Given the description of an element on the screen output the (x, y) to click on. 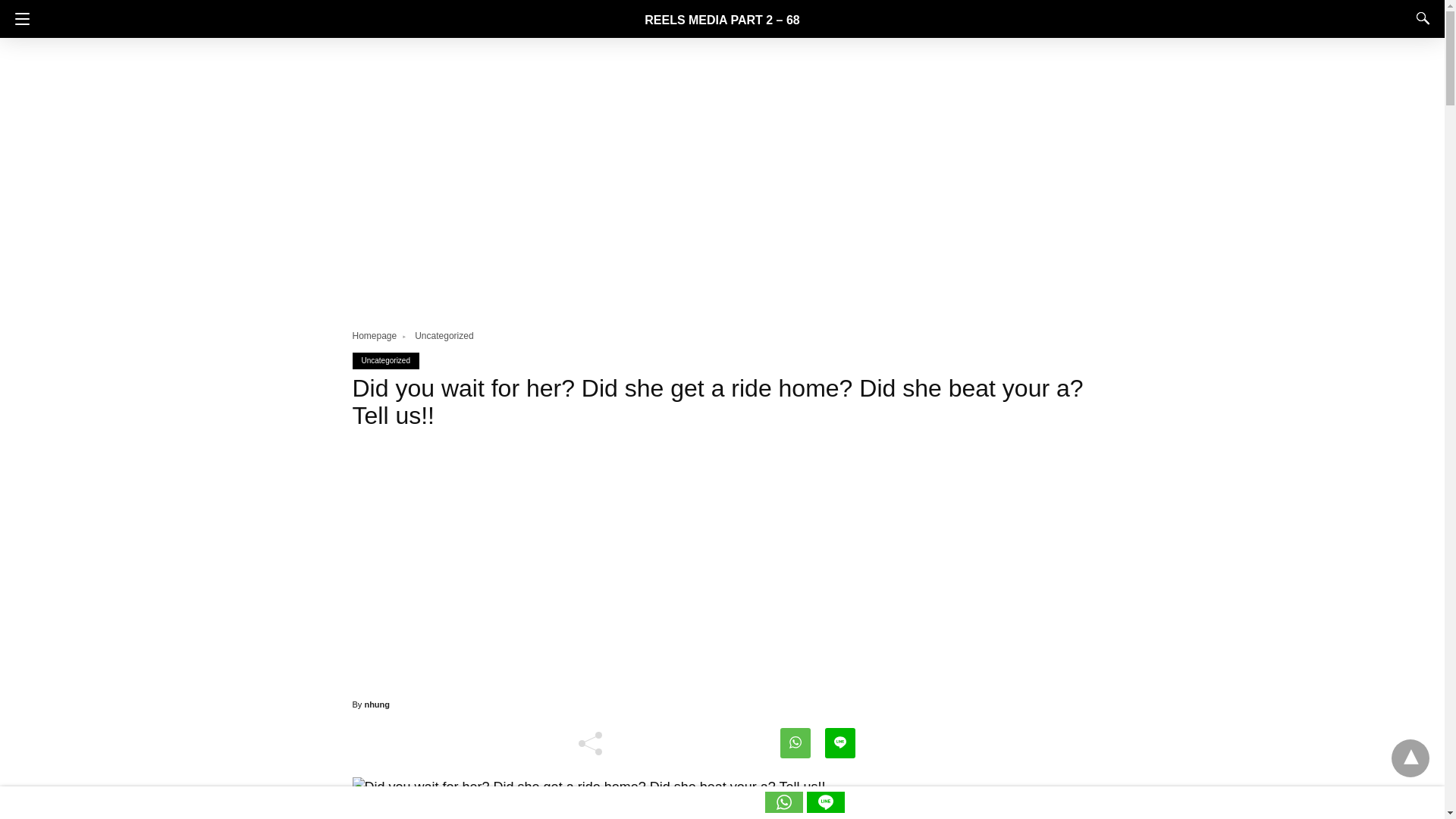
nhung (377, 704)
Homepage (381, 335)
Uncategorized (384, 359)
Homepage (381, 335)
Uncategorized (443, 335)
whatsapp share (785, 808)
Uncategorized (443, 335)
line share (825, 808)
back to top (1410, 758)
